Given the description of an element on the screen output the (x, y) to click on. 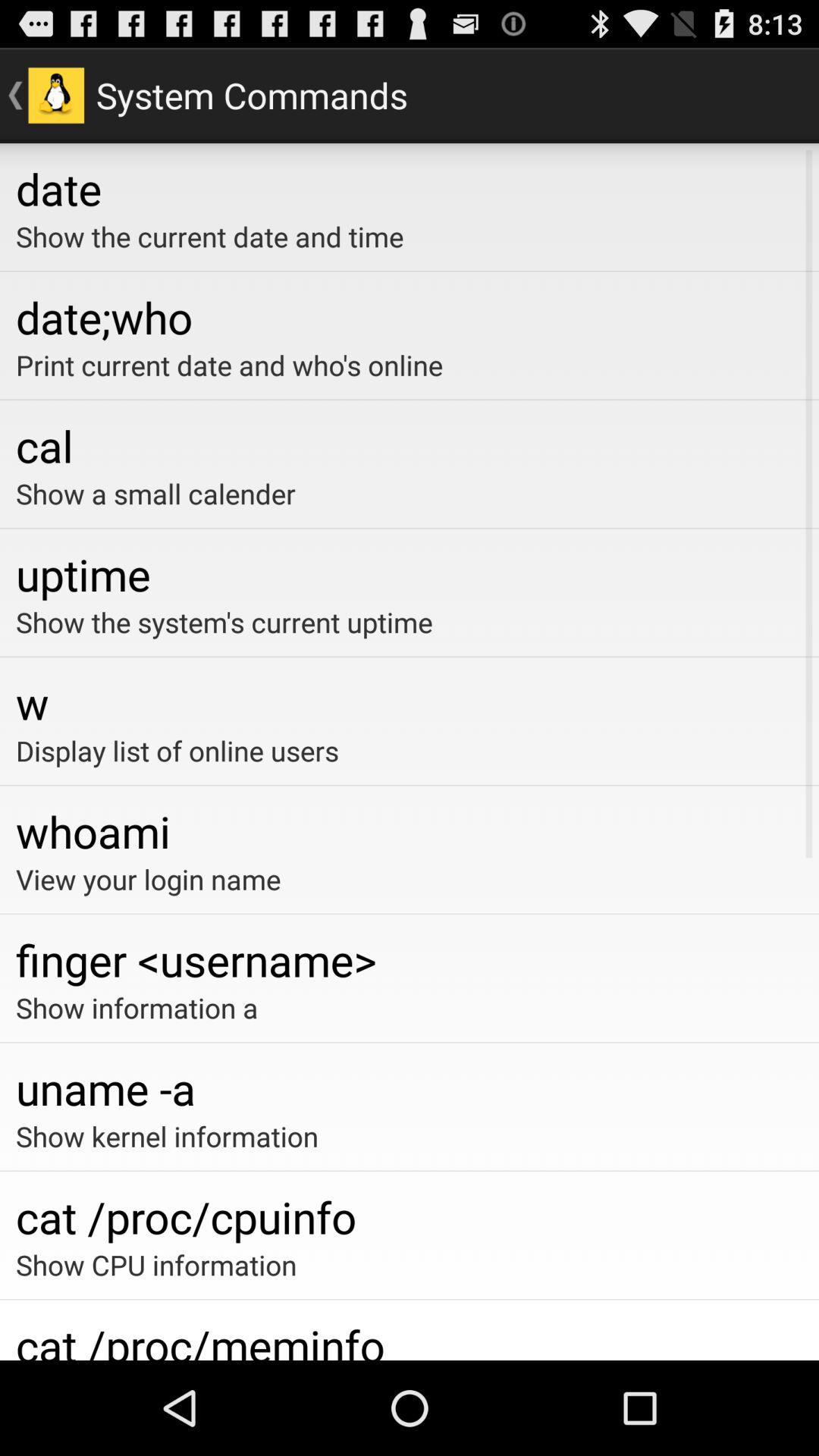
press view your login app (409, 879)
